Given the description of an element on the screen output the (x, y) to click on. 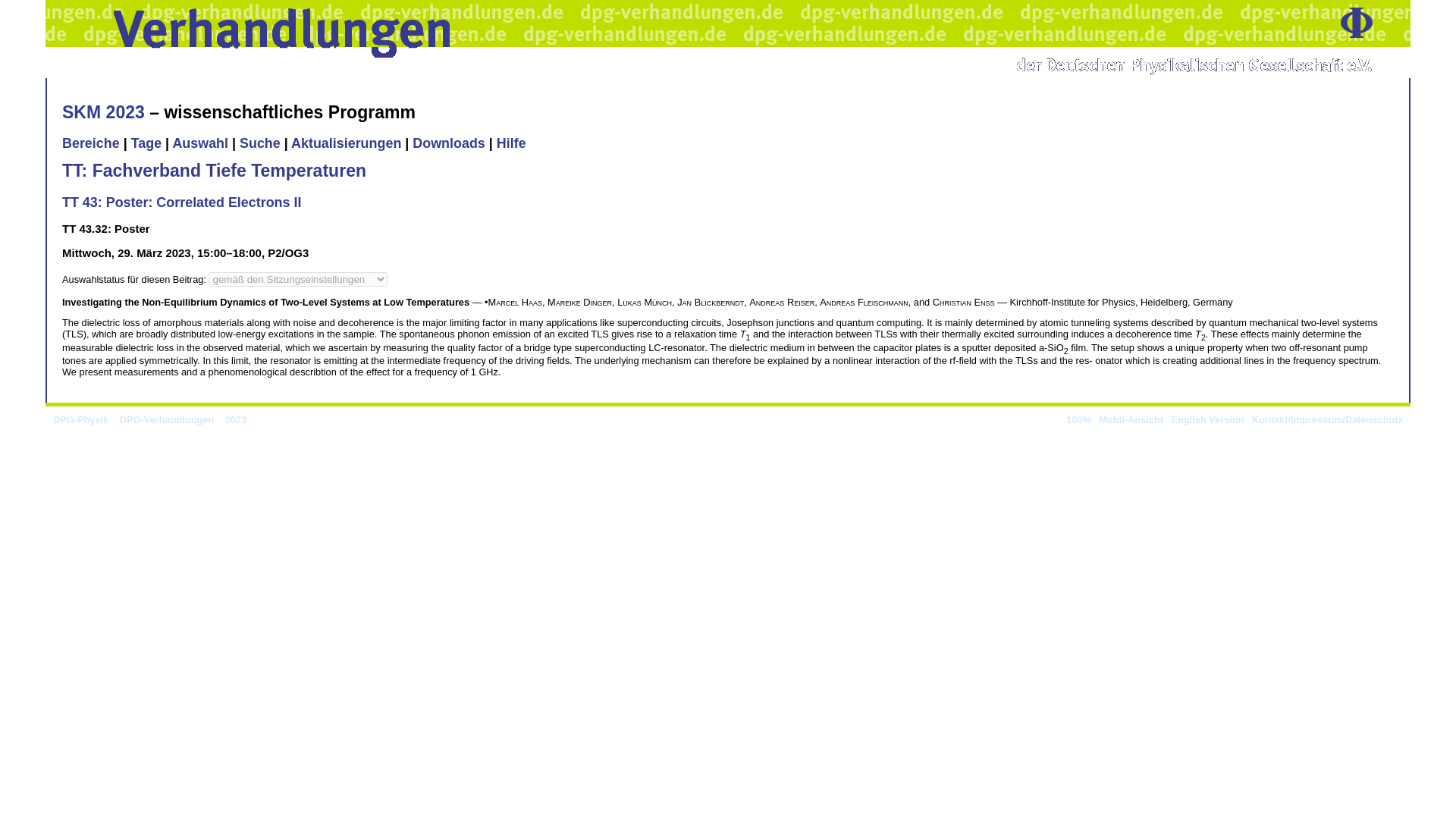
Tage (146, 142)
SKM 2023 (103, 112)
TT 43: Poster: Correlated Electrons II (181, 201)
English Version (1206, 419)
Suche (260, 142)
Auswahl (199, 142)
Bereiche (90, 142)
TT: Fachverband Tiefe Temperaturen (214, 170)
Downloads (448, 142)
Hilfe (510, 142)
